Given the description of an element on the screen output the (x, y) to click on. 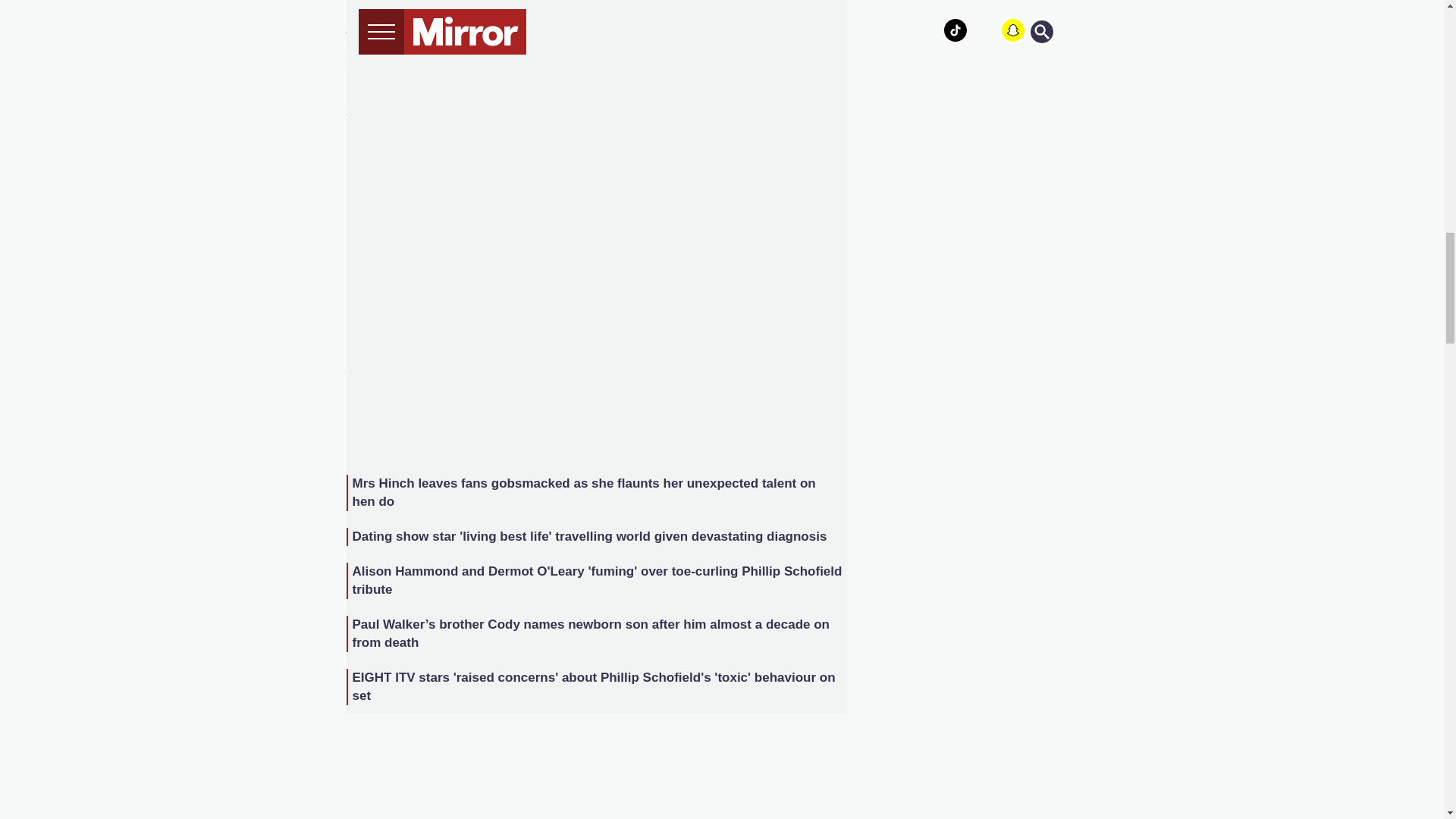
His full statement can be read here. (714, 246)
